Given the description of an element on the screen output the (x, y) to click on. 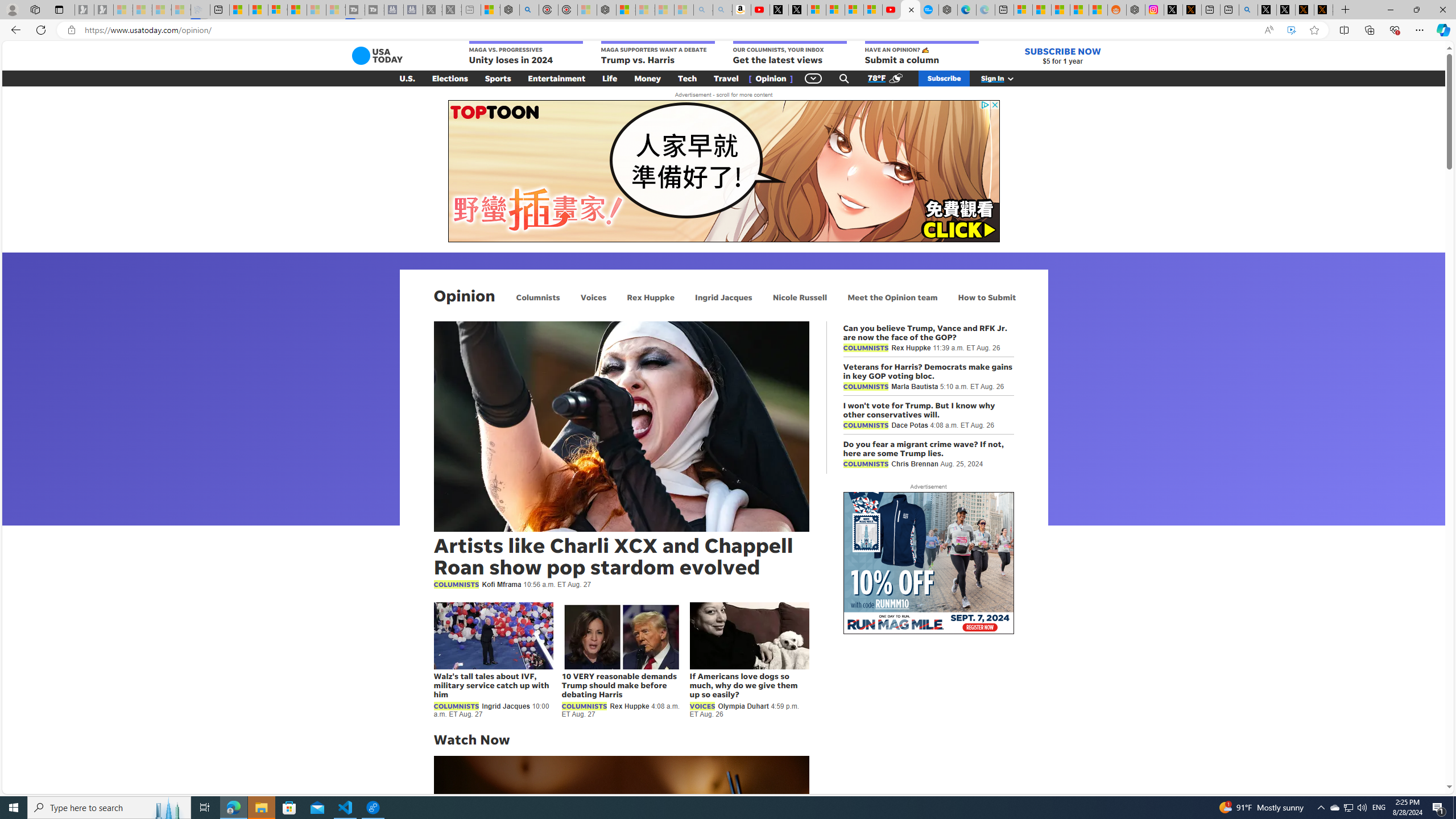
OUR COLUMNISTS, YOUR INBOX Get the latest views (789, 53)
amazon - Search - Sleeping (702, 9)
poe - Search (529, 9)
Nordace - Nordace Siena Is Not An Ordinary Backpack (606, 9)
Money (647, 78)
X (797, 9)
Tech (687, 78)
Class: gnt_n_us_a_svg (1008, 78)
MAGA VS. PROGRESSIVES Unity loses in 2024 (525, 53)
Nicole Russell (799, 296)
